Given the description of an element on the screen output the (x, y) to click on. 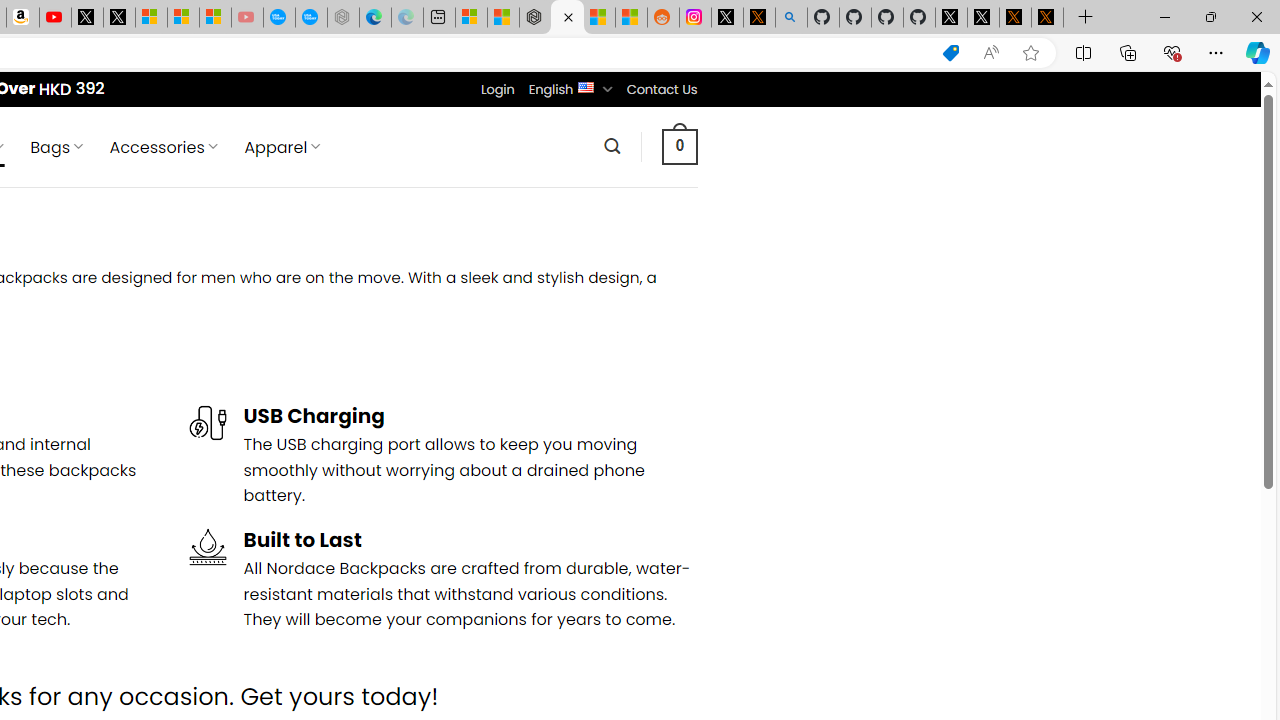
Nordace - Best Sellers (535, 17)
Shanghai, China Weather trends | Microsoft Weather (630, 17)
Profile / X (950, 17)
This site has coupons! Shopping in Microsoft Edge (950, 53)
Microsoft account | Microsoft Account Privacy Settings (471, 17)
X (118, 17)
